Given the description of an element on the screen output the (x, y) to click on. 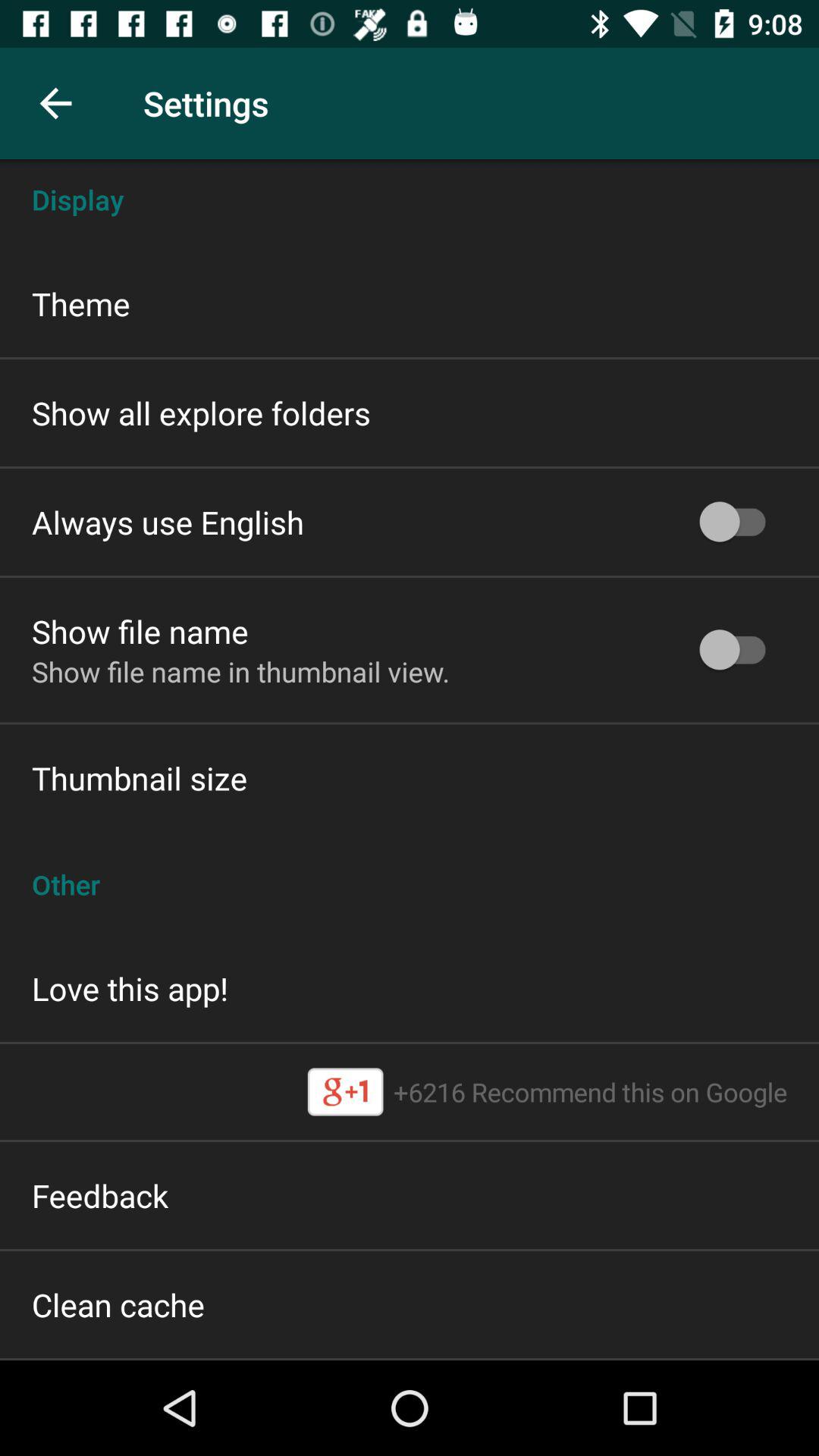
select the item next to the settings (55, 103)
